Given the description of an element on the screen output the (x, y) to click on. 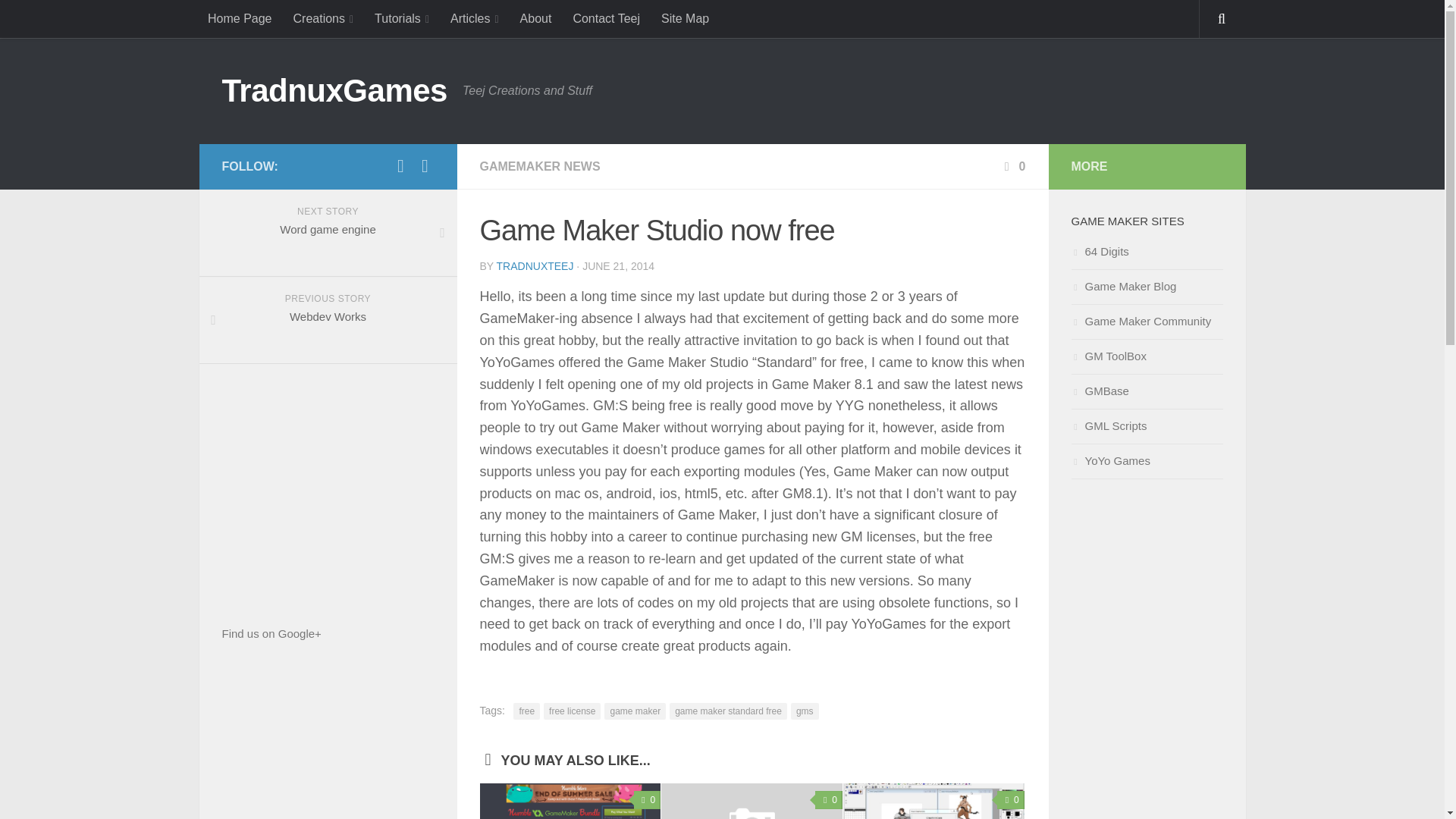
0 (829, 800)
Advertisement (327, 484)
New Game Maker Logo (752, 800)
Contact Teej (606, 18)
TRADNUXTEEJ (534, 265)
game maker standard free (728, 710)
Site Map (684, 18)
GraphicsGale pixel art animation tool is now free (934, 800)
About (535, 18)
game maker (634, 710)
Home Page (239, 18)
Articles (474, 18)
0 (647, 800)
0 (1013, 165)
Game Maker Studio Modules from Humble Bundle (570, 800)
